Given the description of an element on the screen output the (x, y) to click on. 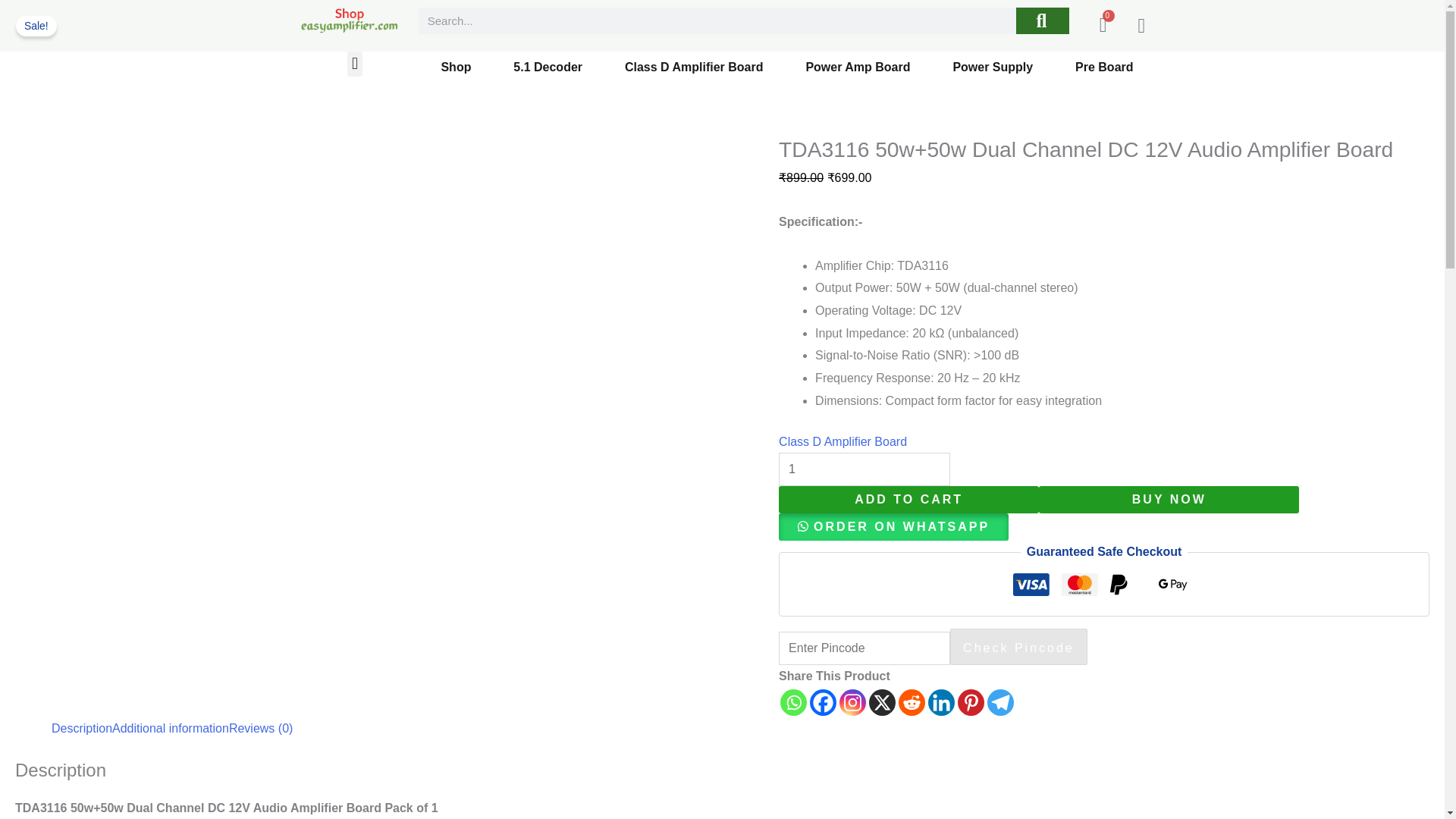
Facebook (822, 702)
Search (1042, 20)
Instagram (853, 702)
Power Amp Board (857, 67)
Shop (456, 67)
Power Supply (992, 67)
Class D Amplifier Board (694, 67)
Reddit (911, 702)
Linkedin (941, 702)
Pre Board (1104, 67)
Pinterest (971, 702)
X (882, 702)
1 (864, 469)
Telegram (1000, 702)
Whatsapp (793, 702)
